Given the description of an element on the screen output the (x, y) to click on. 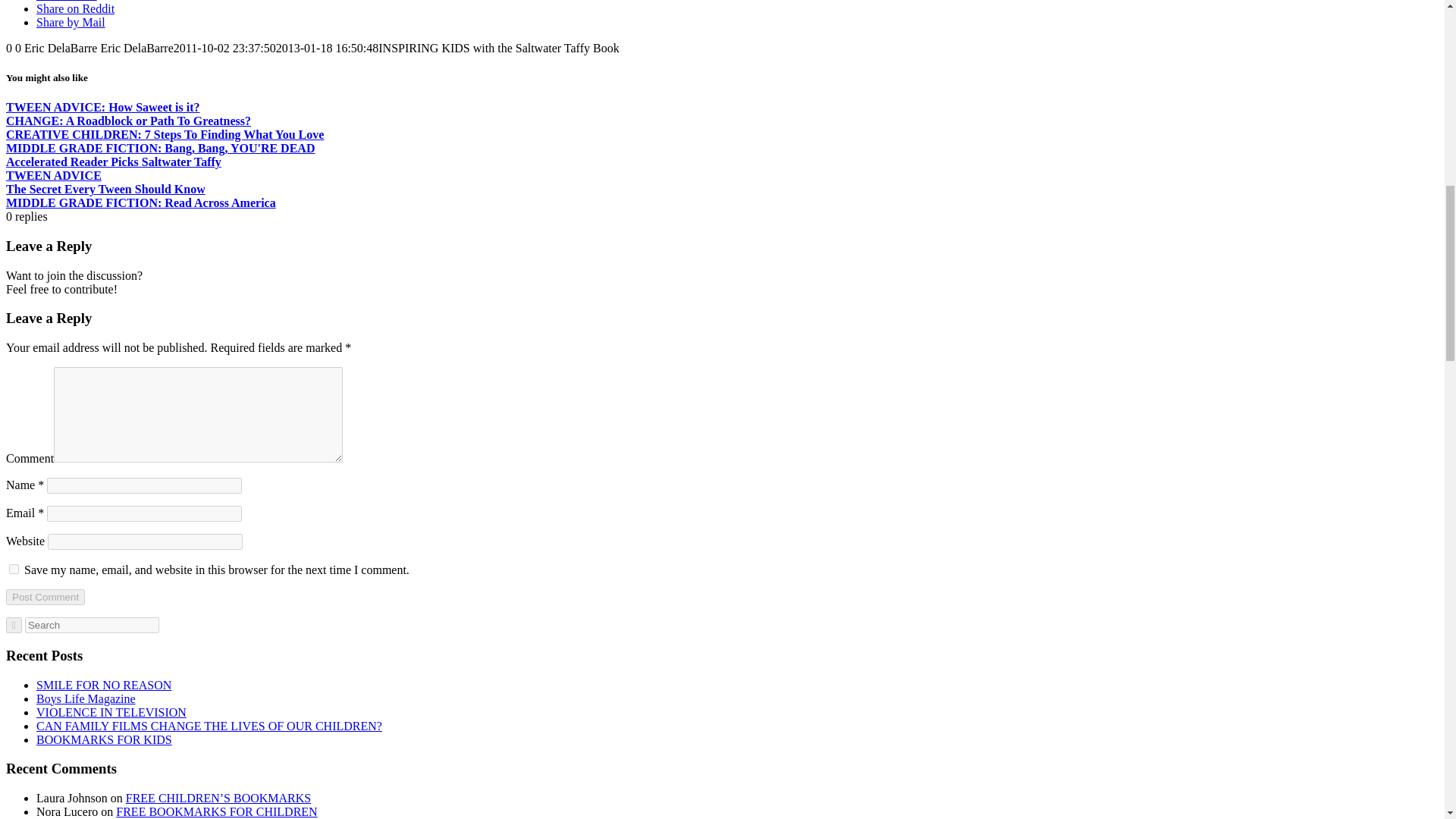
CHANGE: A Roadblock or Path To Greatness? (127, 120)
Share by Mail (70, 21)
MIDDLE GRADE FICTION: Bang, Bang, YOU'RE DEAD (159, 147)
TWEEN ADVICE: How Saweet is it? (102, 106)
Post Comment (44, 596)
Accelerated Reader Picks Saltwater Taffy (113, 161)
TWEEN ADVICE: How Saweet is it?   (102, 106)
Share on Vk (66, 0)
yes (13, 569)
CHANGE: A Roadblock or Path To Greatness? (127, 120)
